Given the description of an element on the screen output the (x, y) to click on. 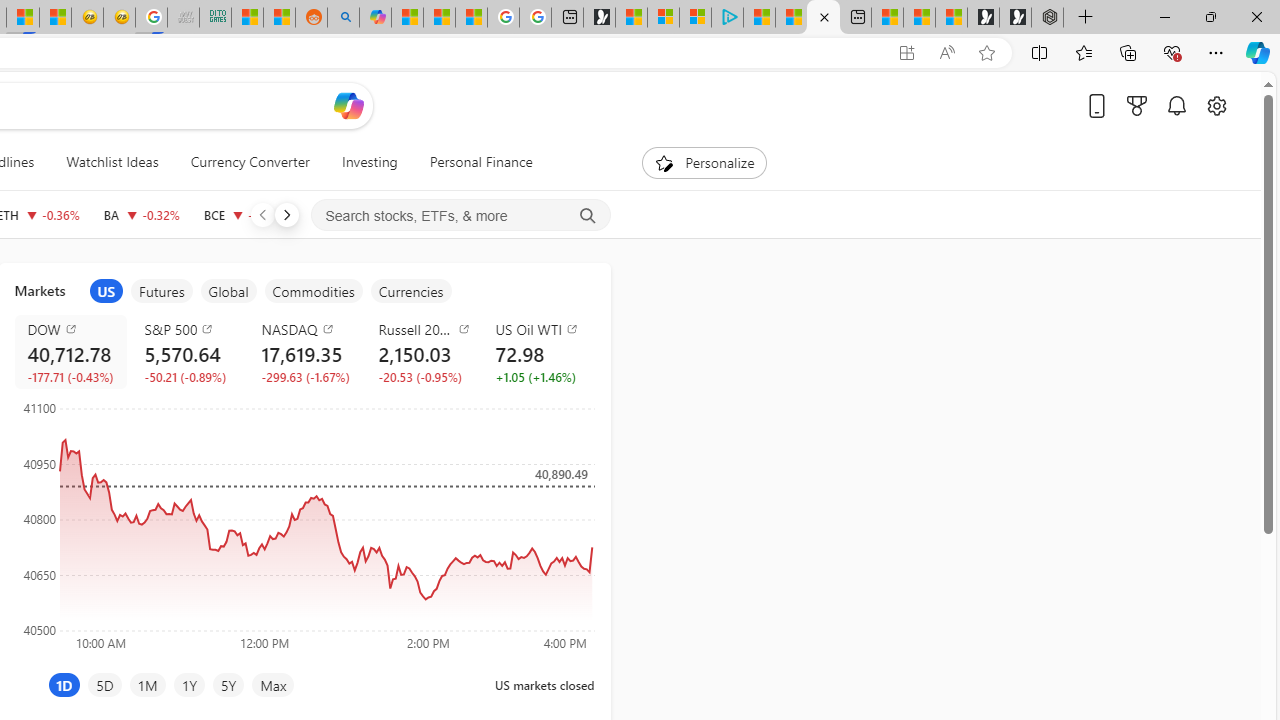
Investing (369, 162)
New Tab (1085, 17)
Read aloud this page (Ctrl+Shift+U) (946, 53)
S&P 500 (190, 328)
Minimize (1164, 16)
BA THE BOEING COMPANY decrease 172.87 -0.56 -0.32% (141, 214)
